Given the description of an element on the screen output the (x, y) to click on. 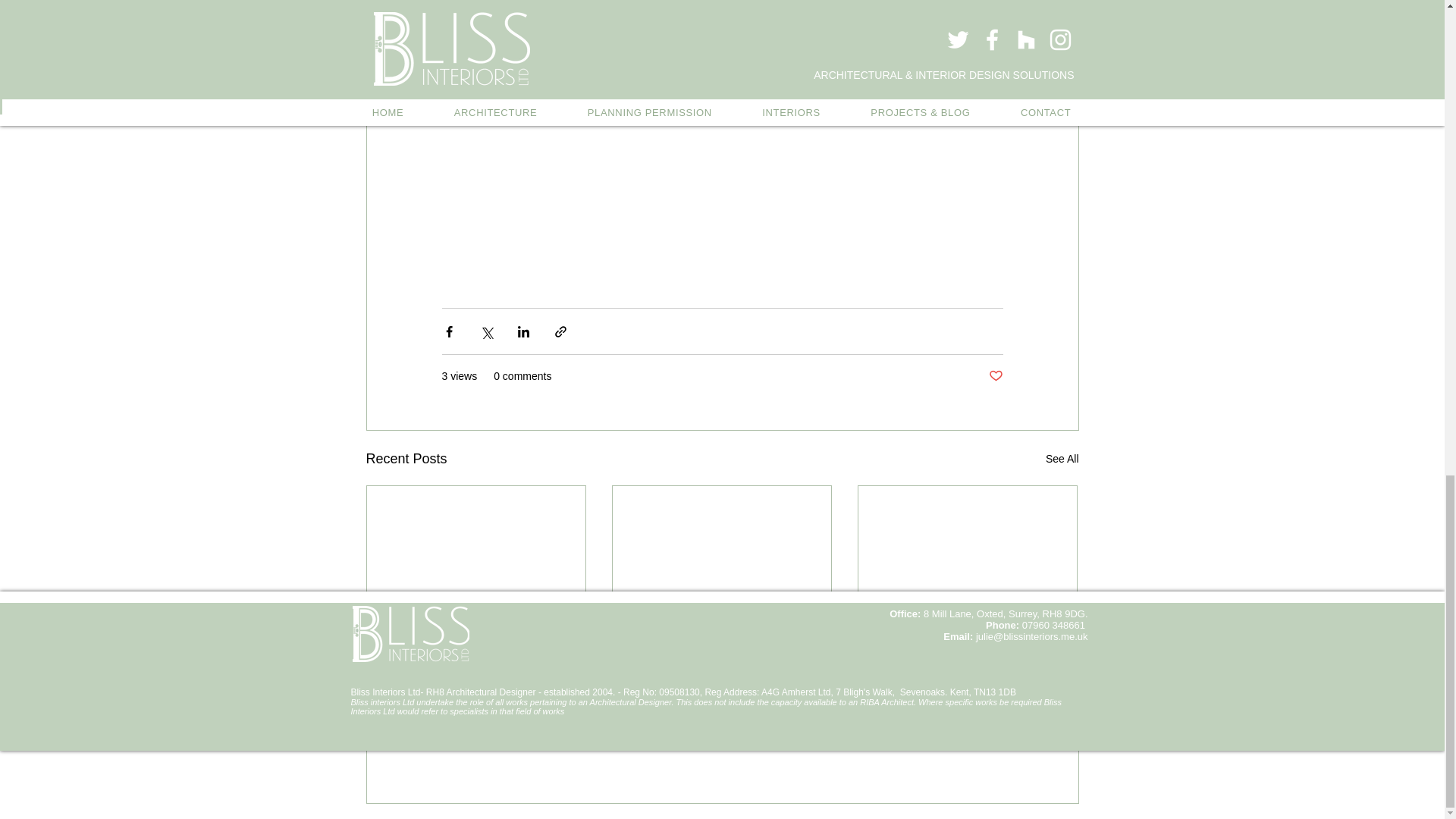
Post not marked as liked (995, 376)
Kitchen trends for 2024 and 2025 (476, 643)
Post not marked as liked (558, 696)
See All (1061, 458)
